Given the description of an element on the screen output the (x, y) to click on. 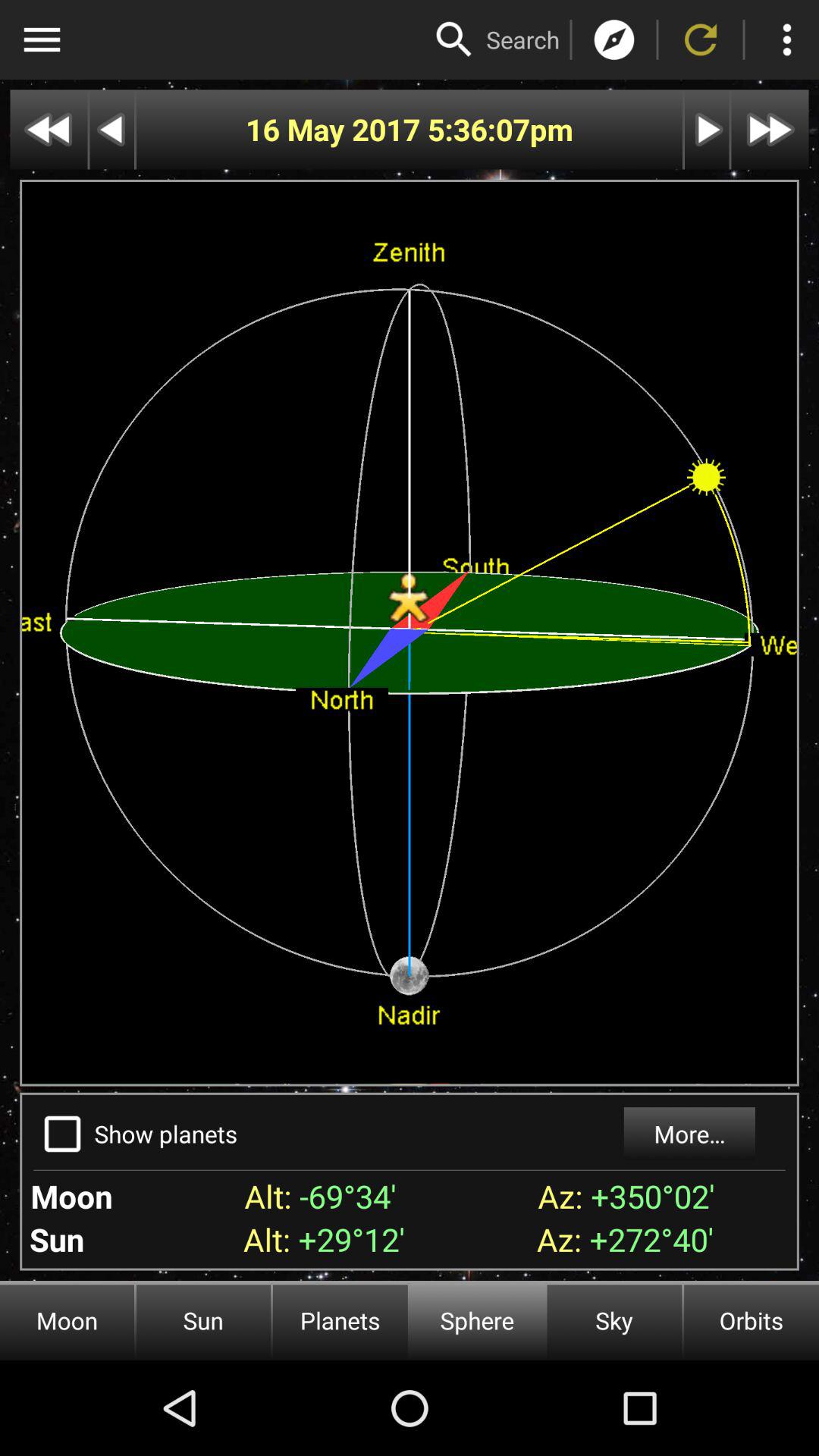
go to next (48, 129)
